Given the description of an element on the screen output the (x, y) to click on. 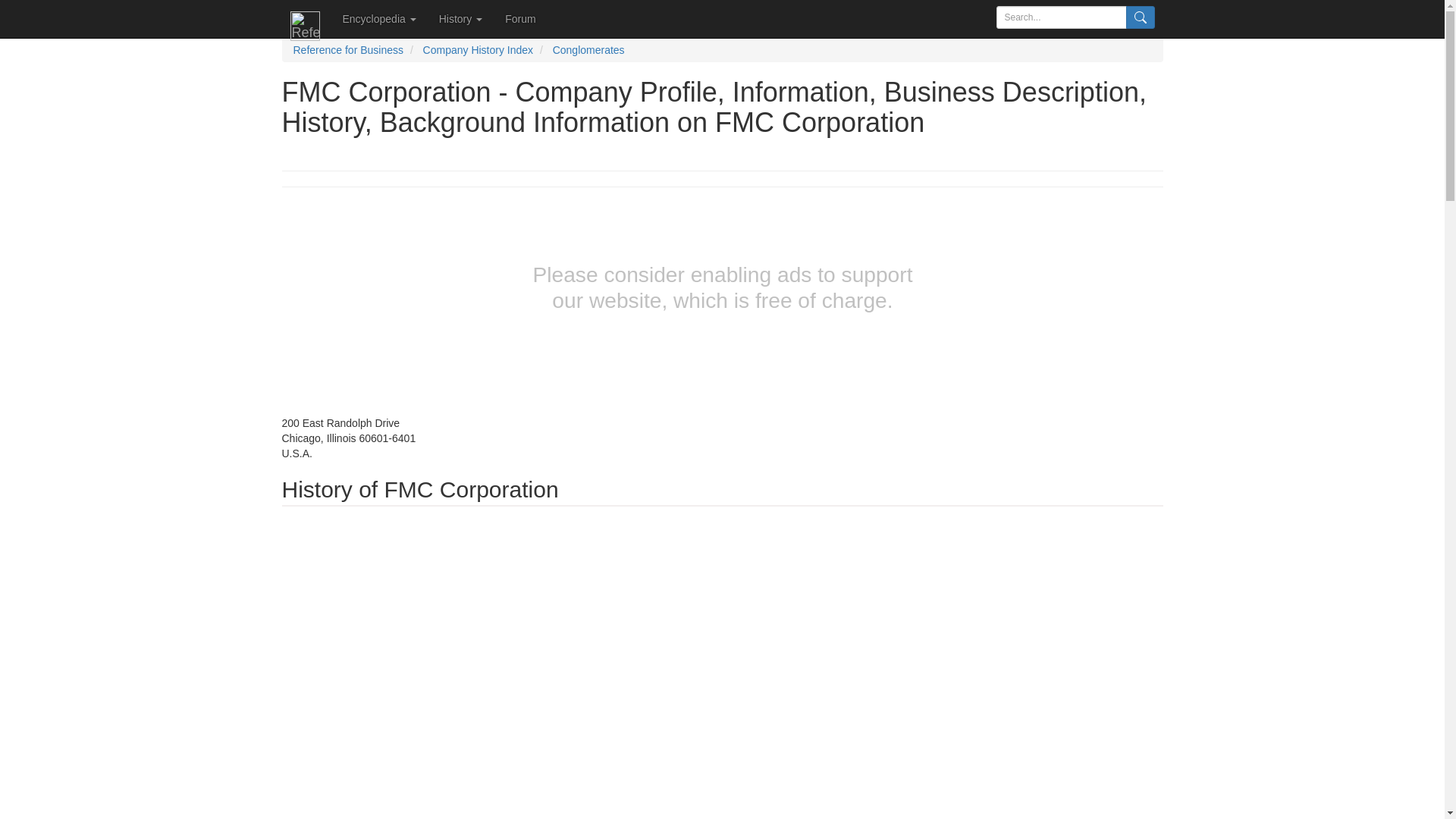
Conglomerates (588, 50)
Company History Index (478, 50)
Encyclopedia (378, 18)
Reference for Business (347, 50)
History (460, 18)
Forum (520, 18)
